Given the description of an element on the screen output the (x, y) to click on. 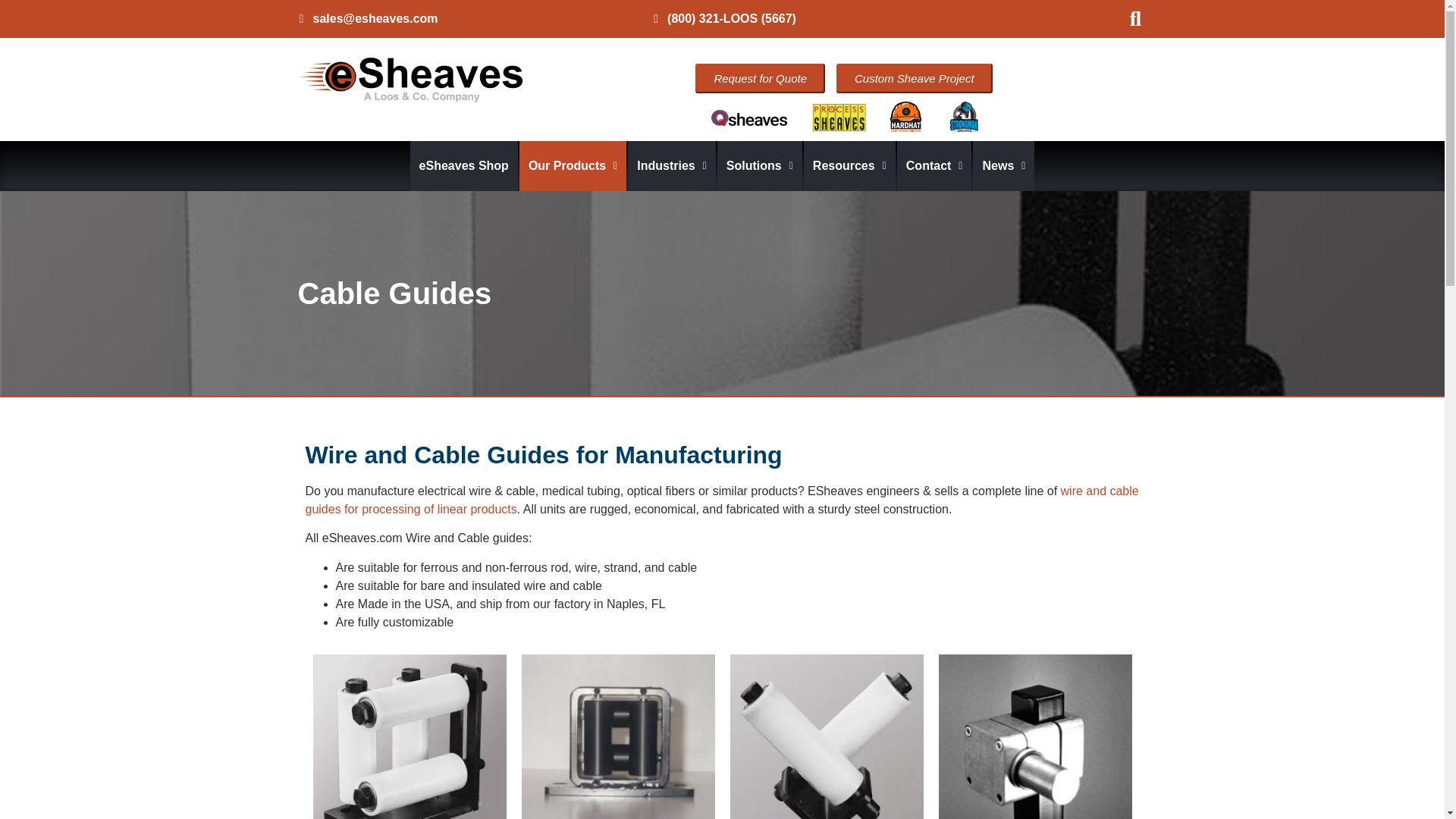
eSheaves Shop (464, 165)
Resources (849, 165)
Custom Sheave Project (913, 78)
Contact (934, 165)
Request for Quote (760, 78)
Our Products (572, 165)
Solutions (759, 165)
Industries (671, 165)
